Given the description of an element on the screen output the (x, y) to click on. 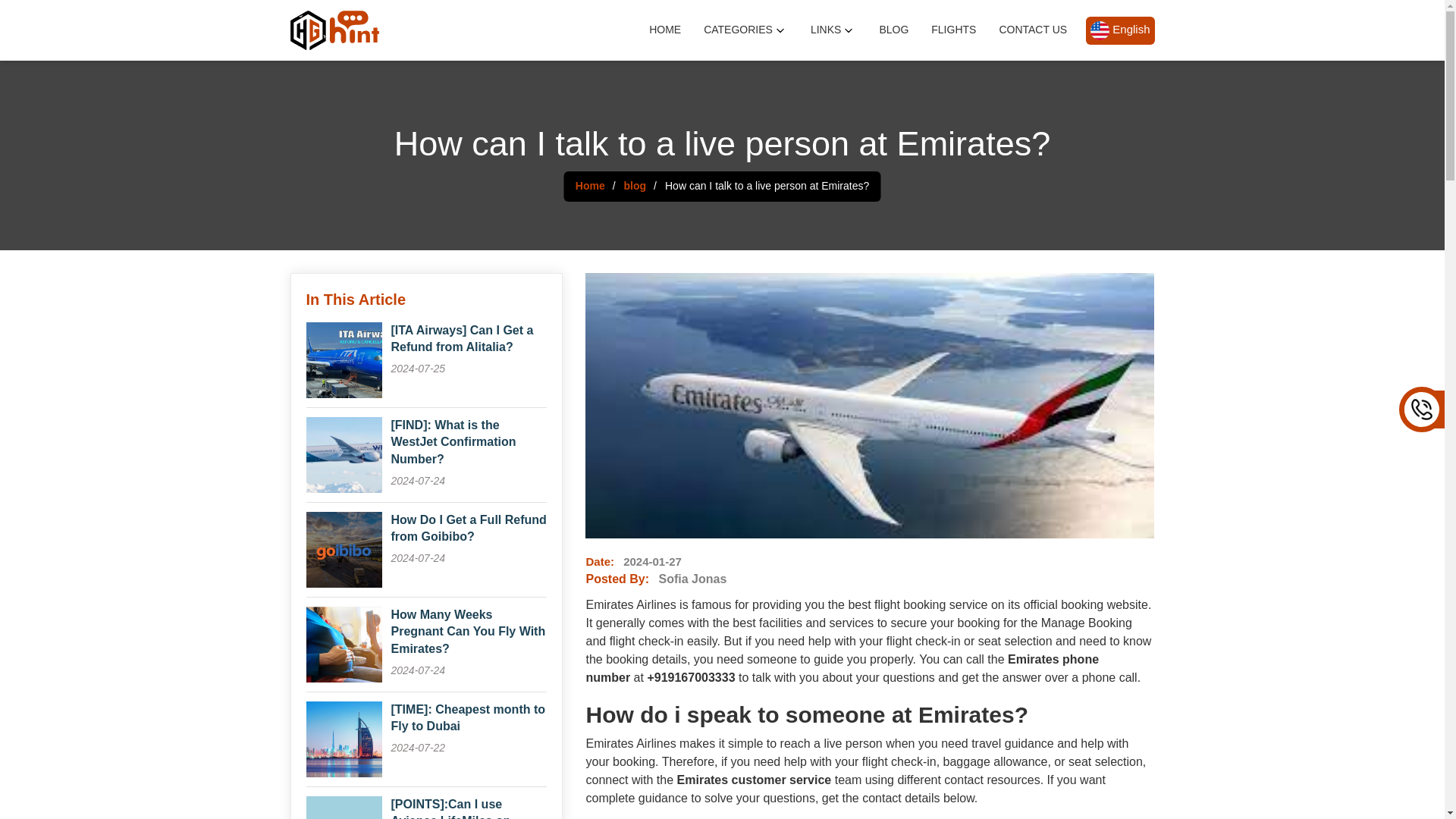
BLOG (893, 29)
Home (590, 185)
CONTACT US (1031, 29)
blog (635, 185)
CATEGORIES (745, 29)
HOME (665, 29)
How Many Weeks Pregnant Can You Fly With Emirates? (468, 632)
FLIGHTS (953, 29)
LINKS (833, 29)
How Do I Get a Full Refund from Goibibo? (469, 528)
